Given the description of an element on the screen output the (x, y) to click on. 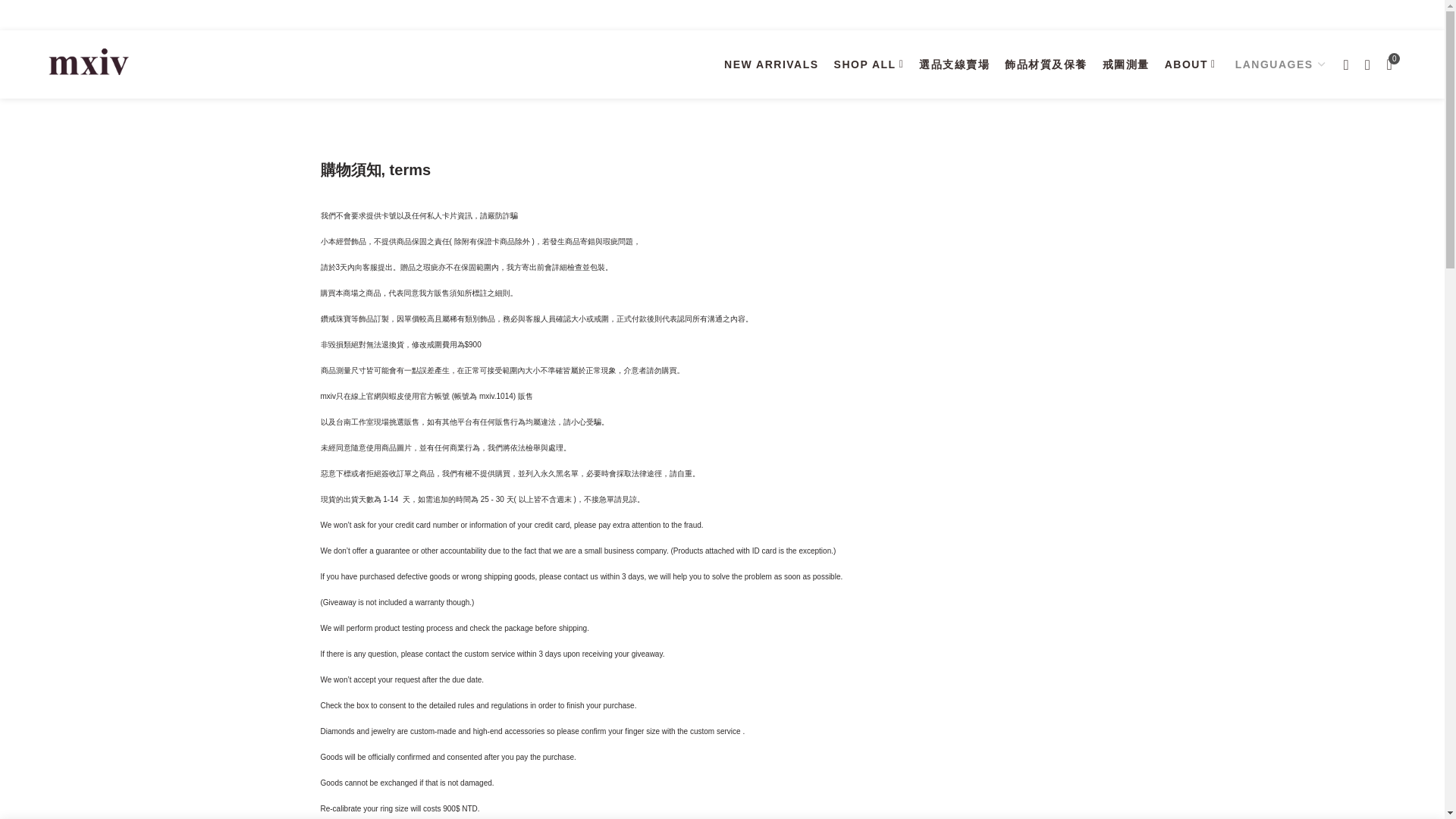
SHOP ALL (869, 64)
ABOUT (1190, 64)
NEW ARRIVALS (771, 64)
